Given the description of an element on the screen output the (x, y) to click on. 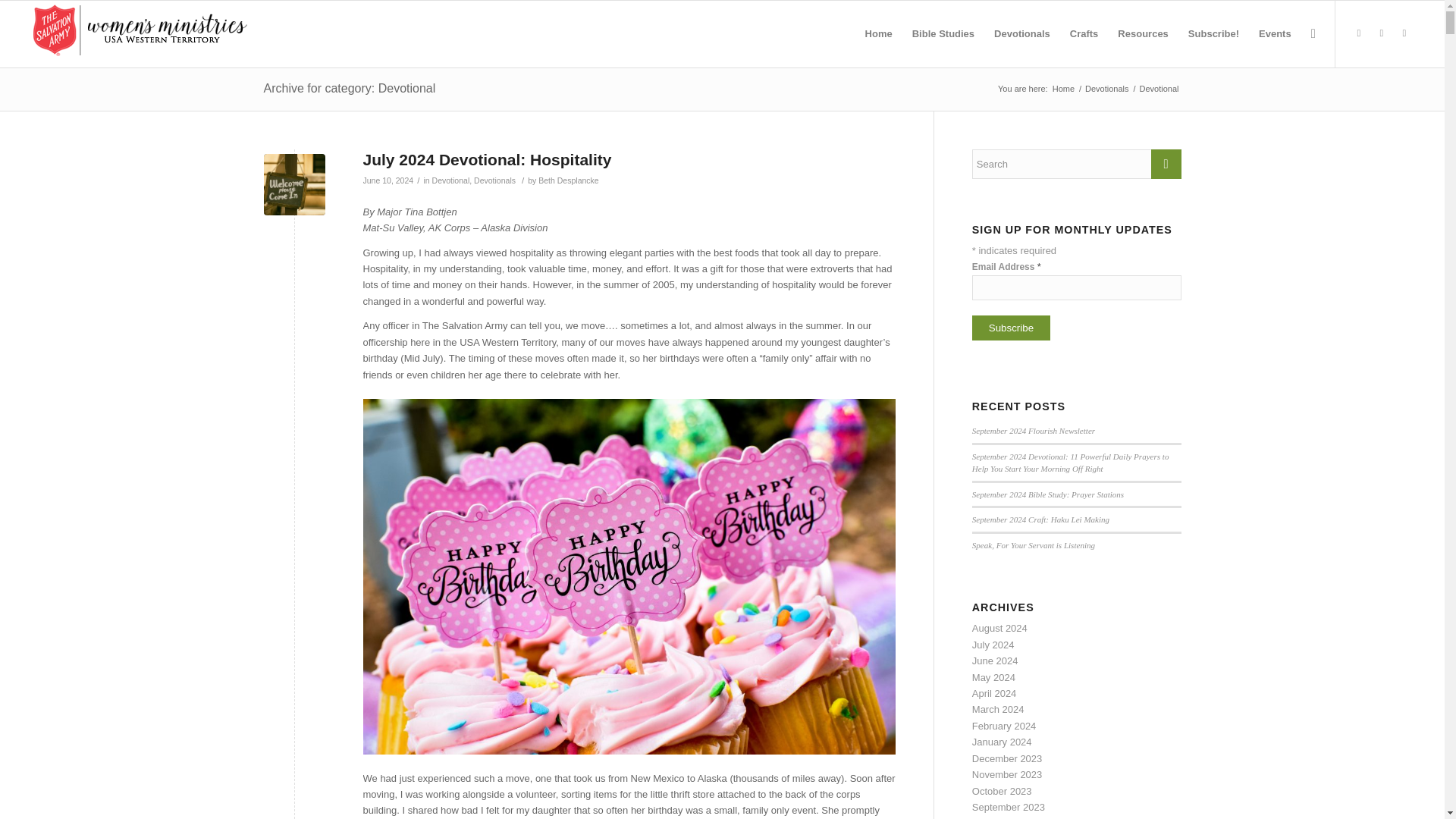
Bible Studies (943, 33)
Beth Desplancke (568, 180)
Subscribe! (1213, 33)
Home (1063, 89)
July 2024 Devotional: Hospitality (486, 159)
Devotionals (1107, 89)
Pinterest (1404, 33)
Archive for category: Devotional (349, 88)
July 2024 Devotional:  Hospitality (293, 184)
Devotionals (1107, 89)
